Given the description of an element on the screen output the (x, y) to click on. 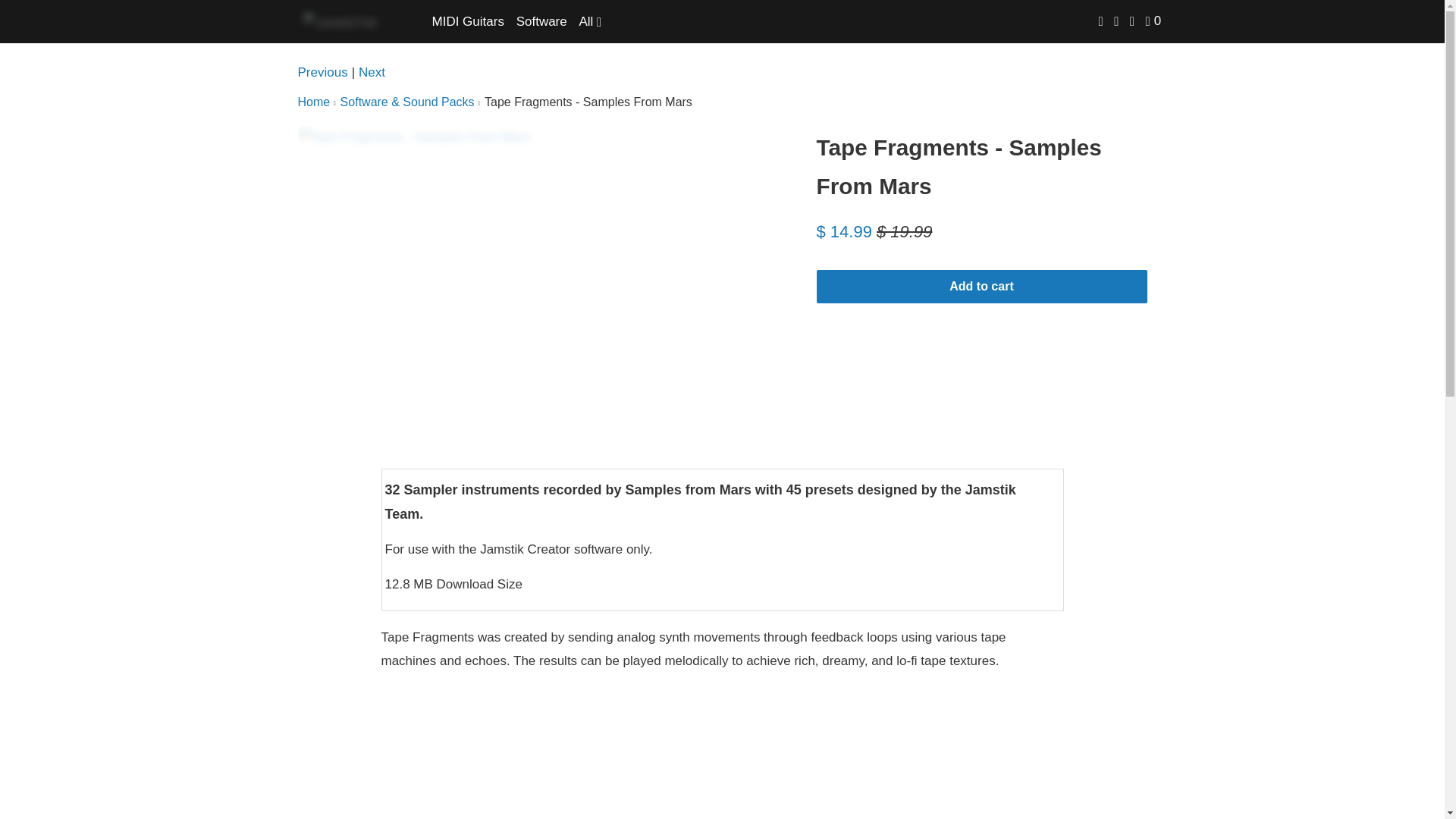
Previous (322, 73)
Jamstik (342, 21)
Software (541, 21)
Previous (322, 73)
Next (371, 73)
Next (371, 73)
MIDI Guitars (467, 21)
Home (313, 101)
Jamstik (313, 101)
0 (1154, 21)
